Given the description of an element on the screen output the (x, y) to click on. 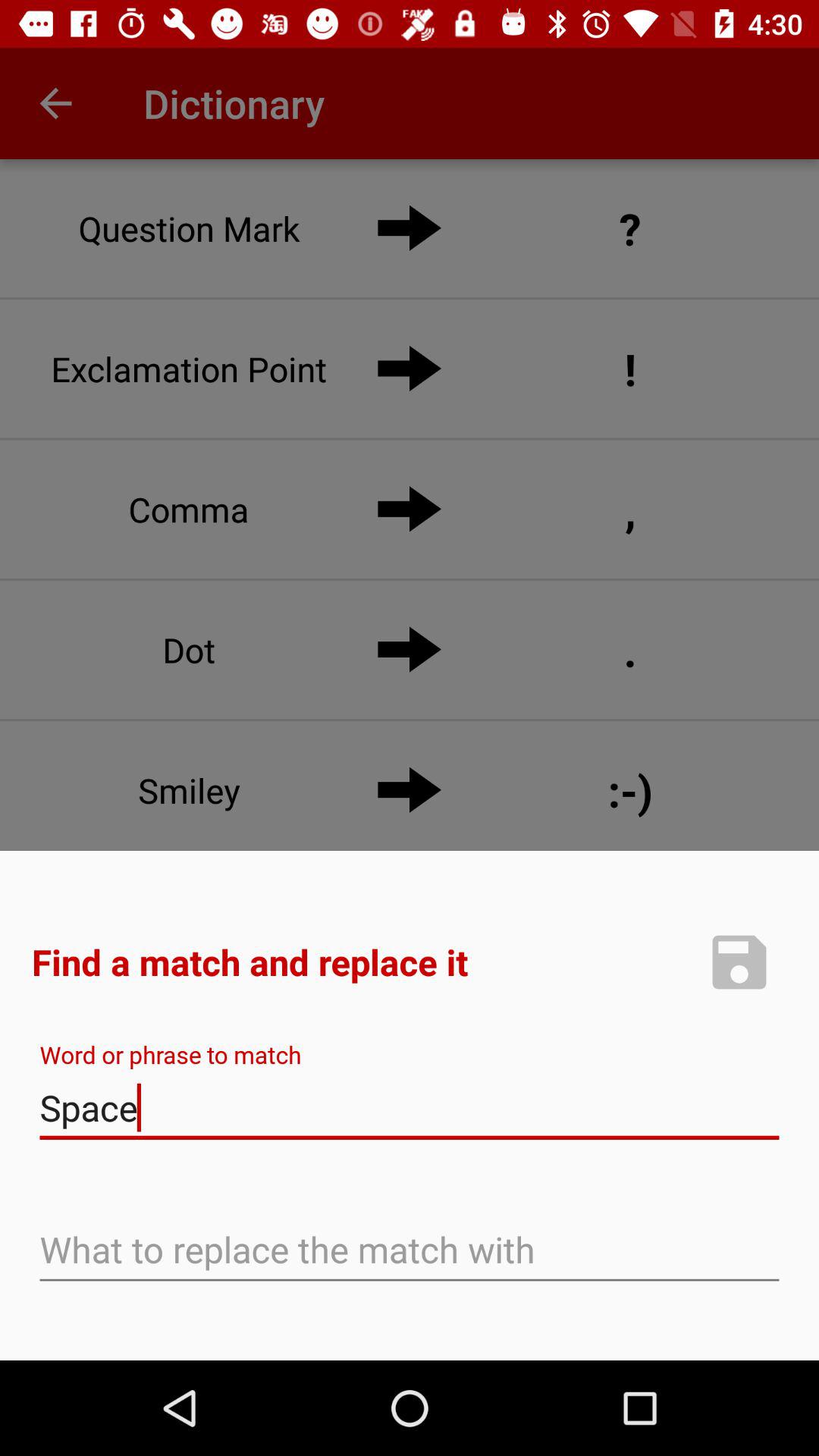
save information (739, 962)
